Given the description of an element on the screen output the (x, y) to click on. 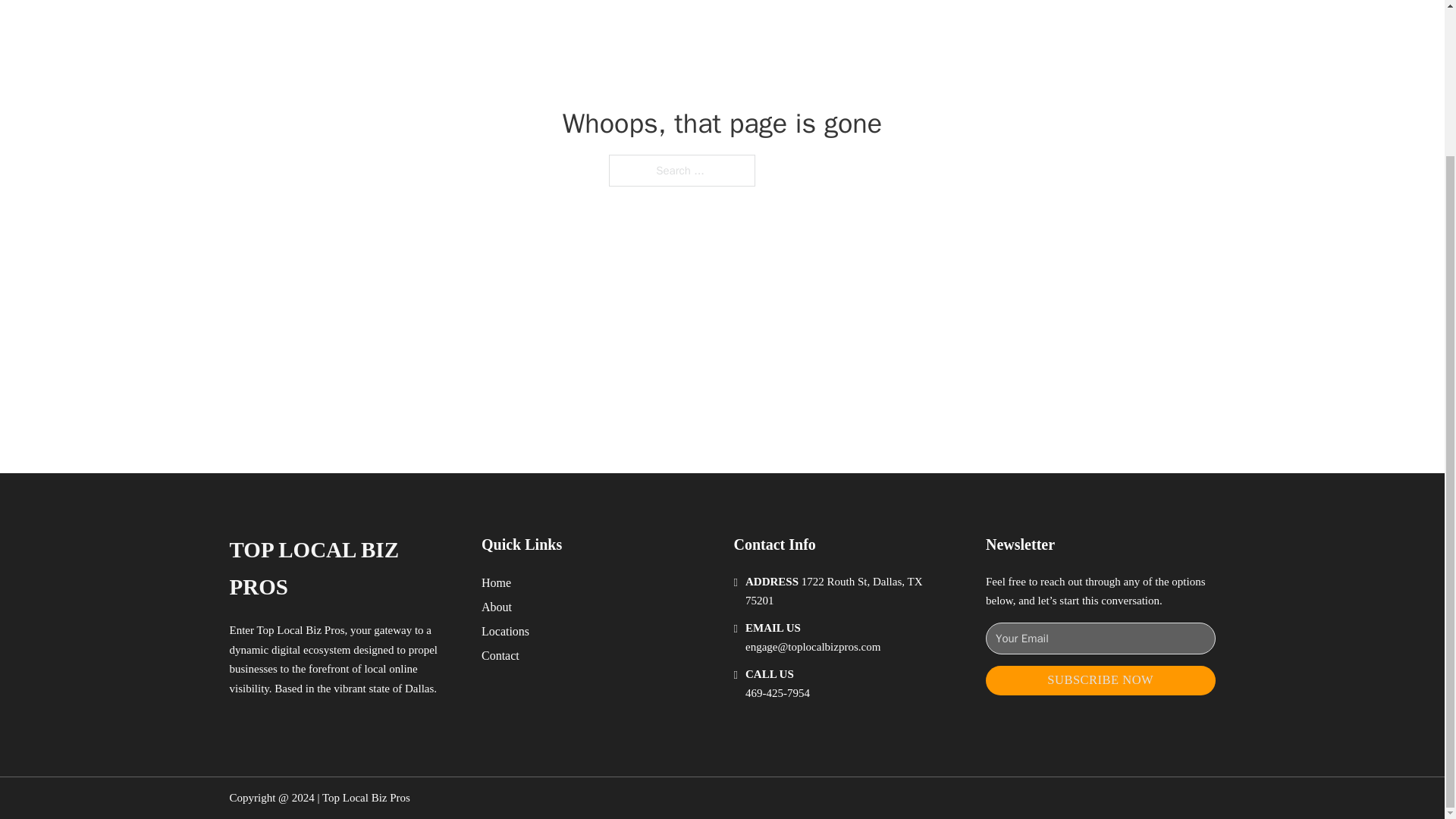
Locations (505, 630)
Home (496, 582)
TOP LOCAL BIZ PROS (343, 568)
About (496, 607)
Contact (500, 655)
SUBSCRIBE NOW (1100, 680)
469-425-7954 (777, 693)
